Given the description of an element on the screen output the (x, y) to click on. 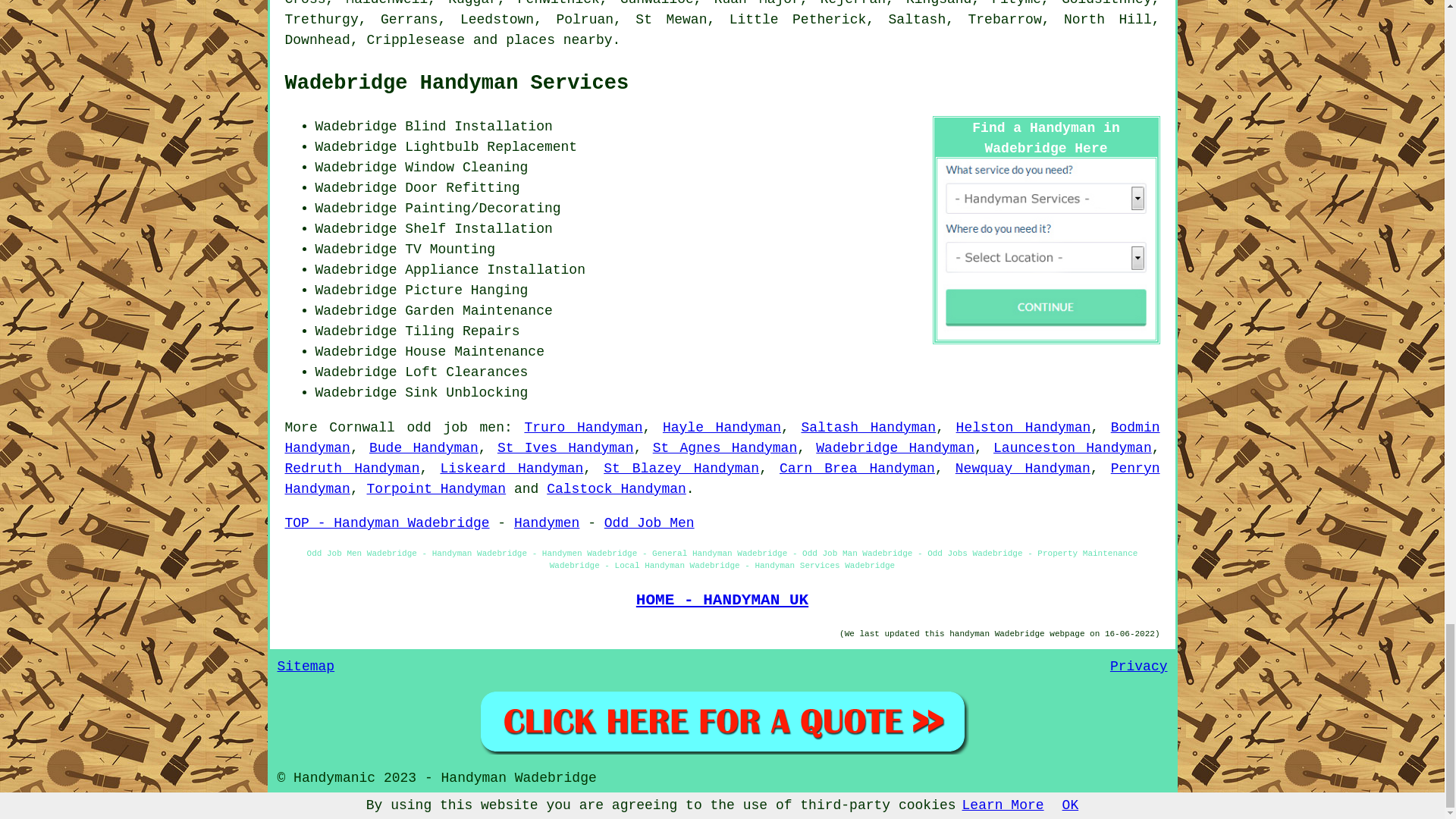
St Blazey Handyman (681, 468)
Newquay Handyman (1022, 468)
Helston Handyman (1023, 427)
Saltash Handyman (868, 427)
Liskeard Handyman (511, 468)
Bodmin Handyman (722, 437)
Truro Handyman (583, 427)
Bude Handyman (424, 447)
Penryn Handyman (722, 478)
Launceston Handyman (1071, 447)
